Given the description of an element on the screen output the (x, y) to click on. 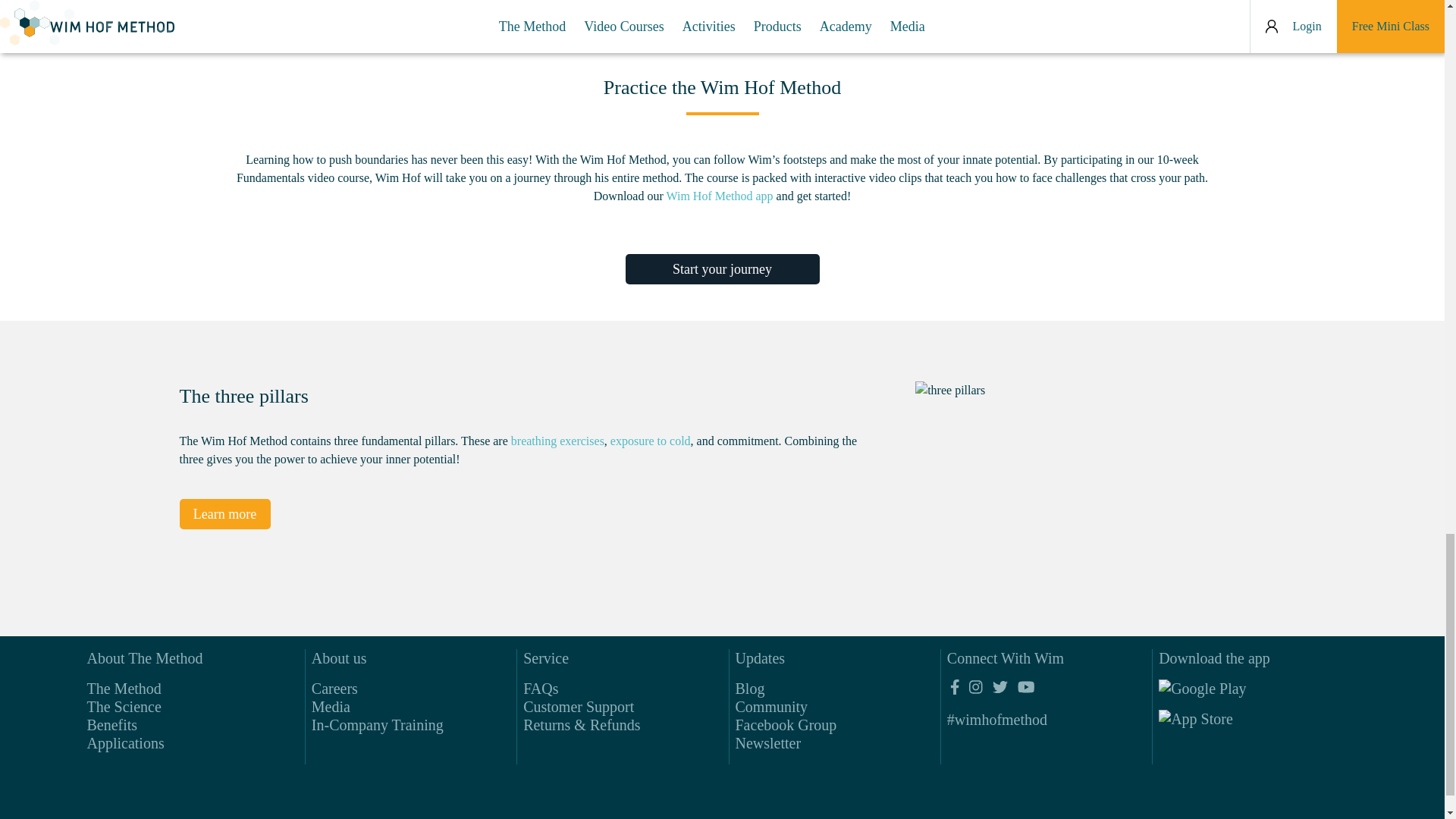
Get The Wim Hof Method App on Google Play (1227, 691)
Learn all about The Wim Hof Method on Youtube (1024, 686)
Start your journey (721, 268)
Learn more (224, 513)
The three pillars (1082, 478)
Follow The Wim Hof Method on Instagram (975, 686)
Follow The Wim Hof Method on Twitter (1000, 686)
Like The Wim Hof Method on Facebook (954, 686)
See who is already inspired by The Wim Hof Method (996, 719)
Download The Wim Hof Method App on the App Store (1227, 721)
